Given the description of an element on the screen output the (x, y) to click on. 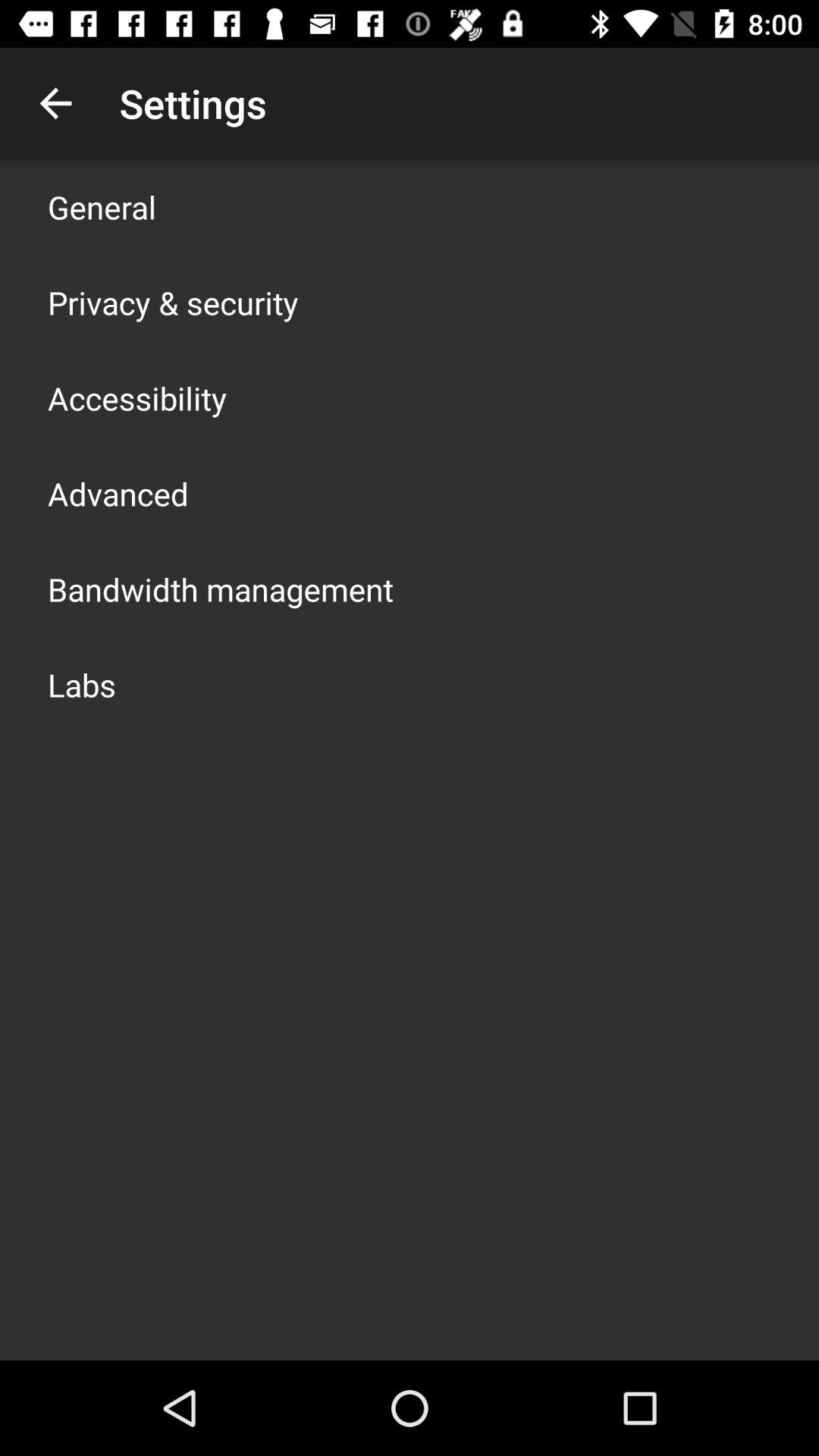
jump until the labs (81, 684)
